Given the description of an element on the screen output the (x, y) to click on. 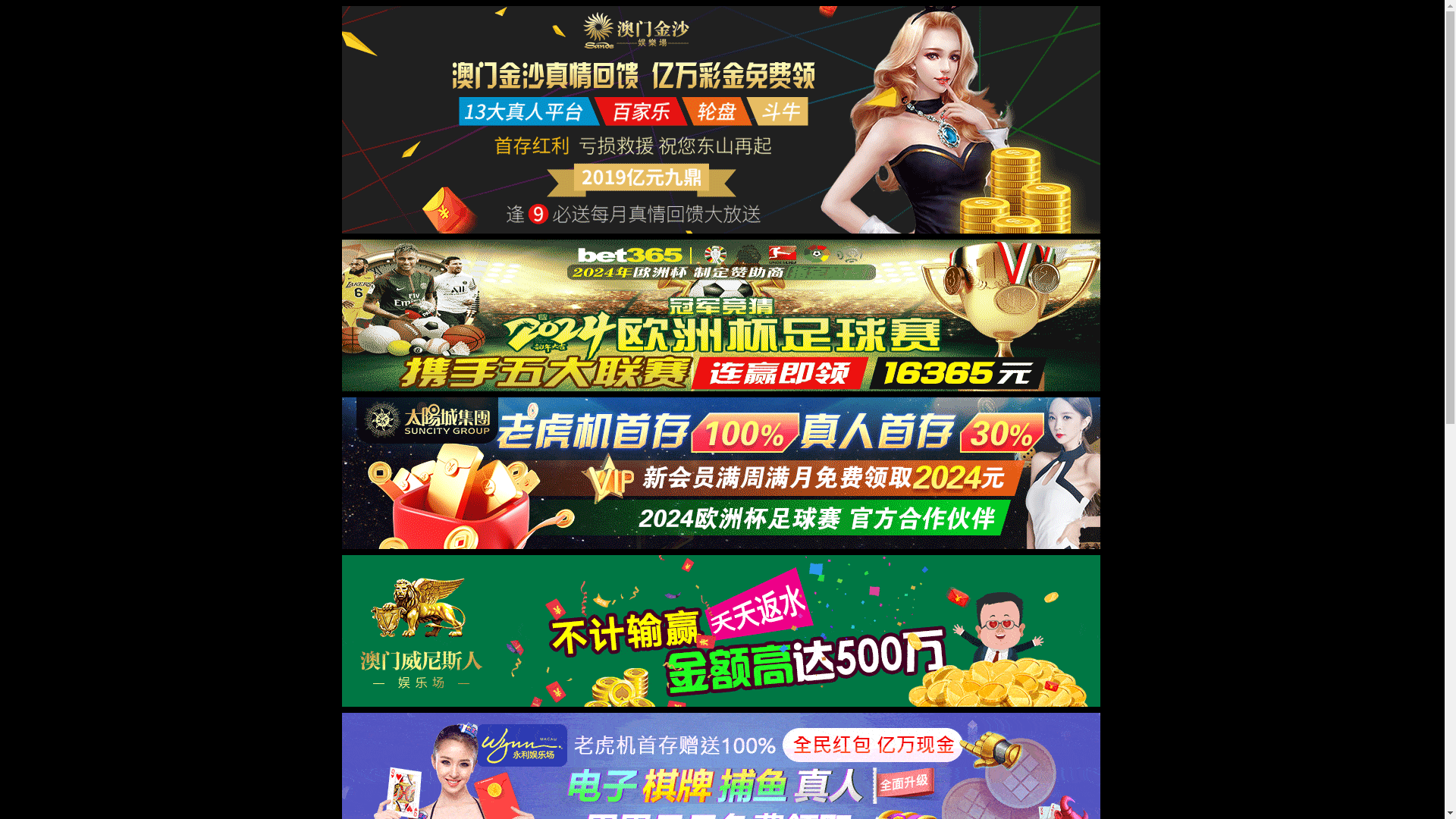
News (789, 31)
Corporate culture (1064, 31)
HR (1136, 31)
Case Study (972, 31)
Partner (842, 31)
About us (733, 31)
Products (903, 31)
Contact us (1191, 31)
Home (675, 31)
